Given the description of an element on the screen output the (x, y) to click on. 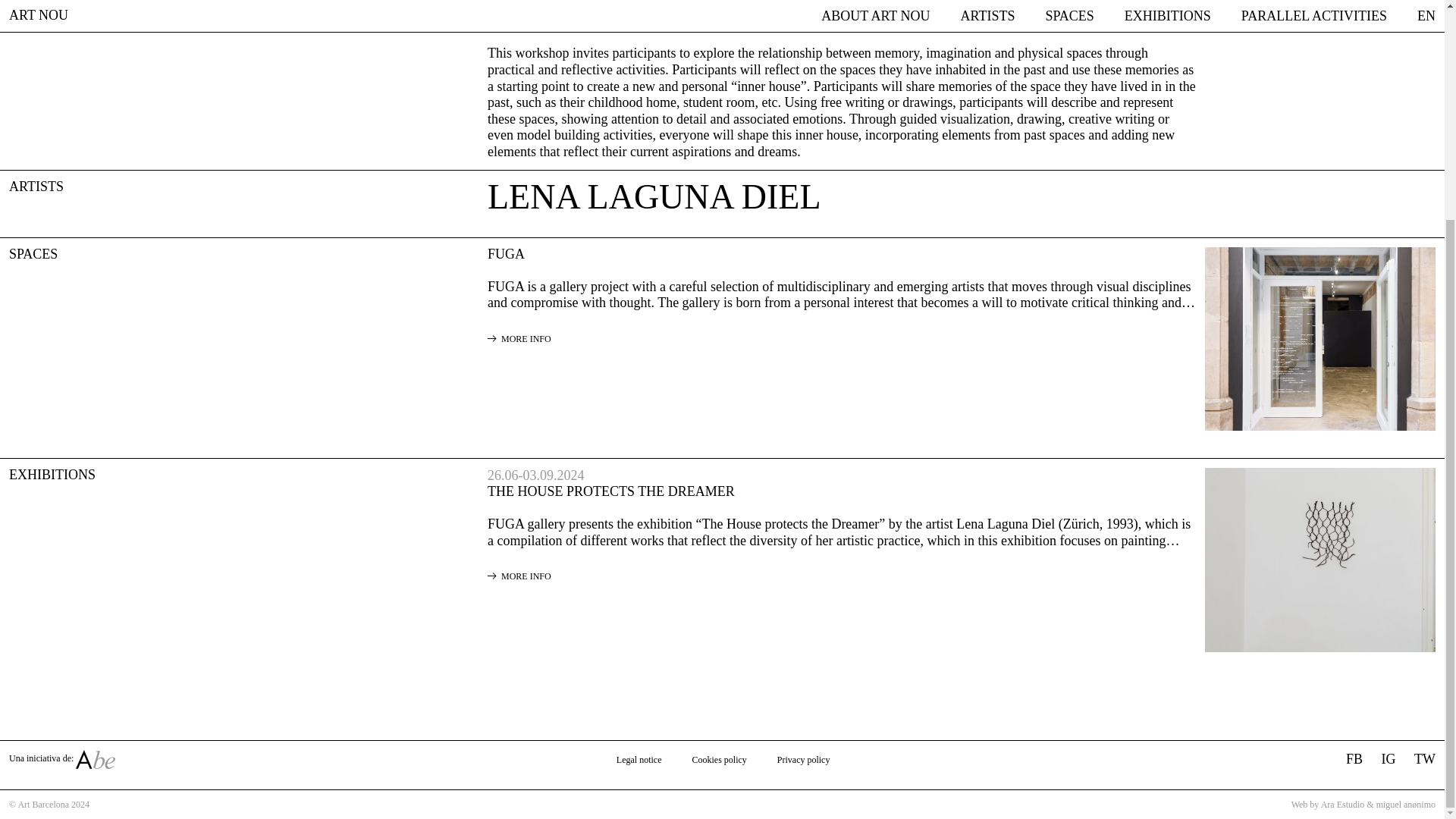
TW (1424, 759)
FB (1353, 759)
Lena Laguna Diel (654, 196)
Legal notice (638, 759)
Cookies policy (718, 759)
LENA LAGUNA DIEL (654, 196)
Privacy policy (803, 759)
Ara Estudio (1342, 804)
